Given the description of an element on the screen output the (x, y) to click on. 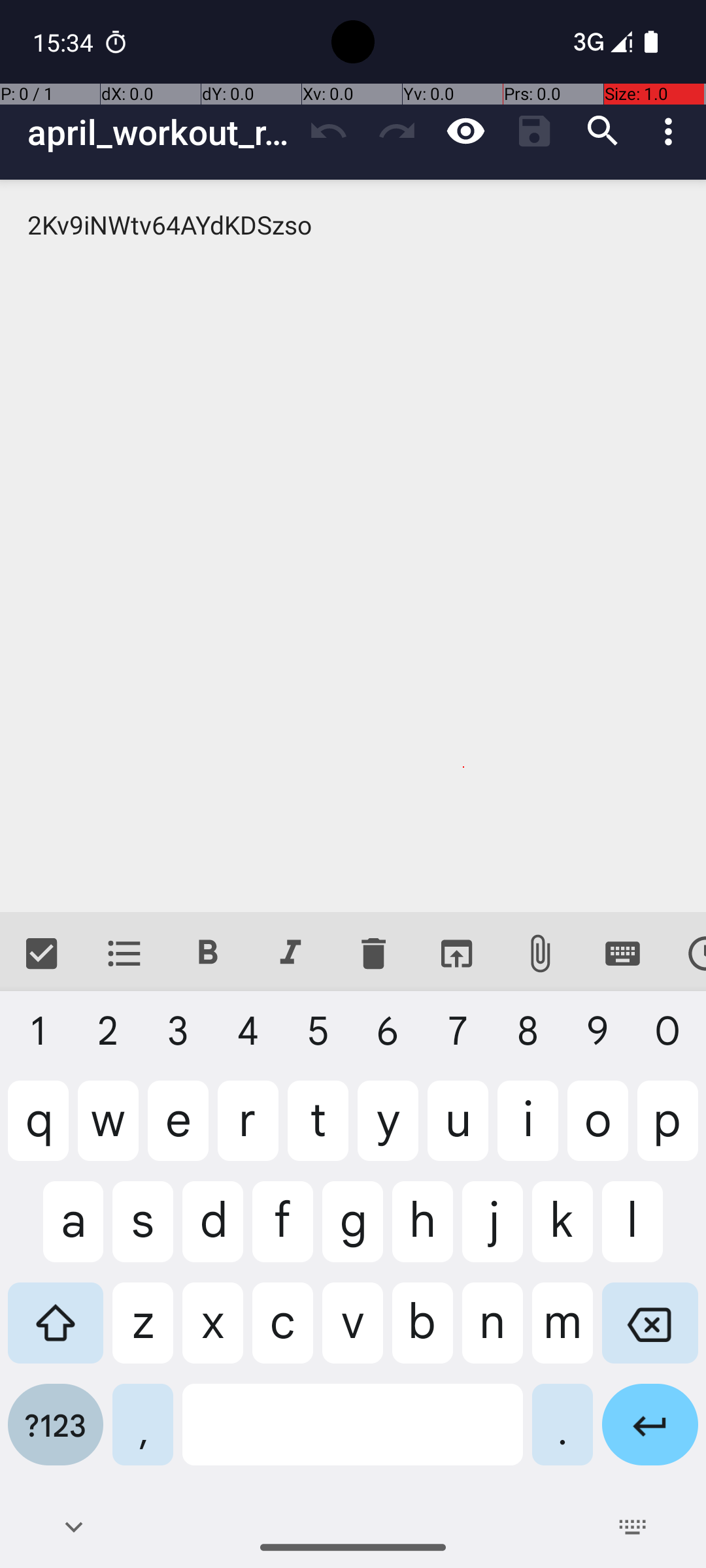
april_workout_routine_ucuU Element type: android.widget.TextView (160, 131)
2Kv9iNWtv64AYdKDSzso
 Element type: android.widget.EditText (353, 545)
